Given the description of an element on the screen output the (x, y) to click on. 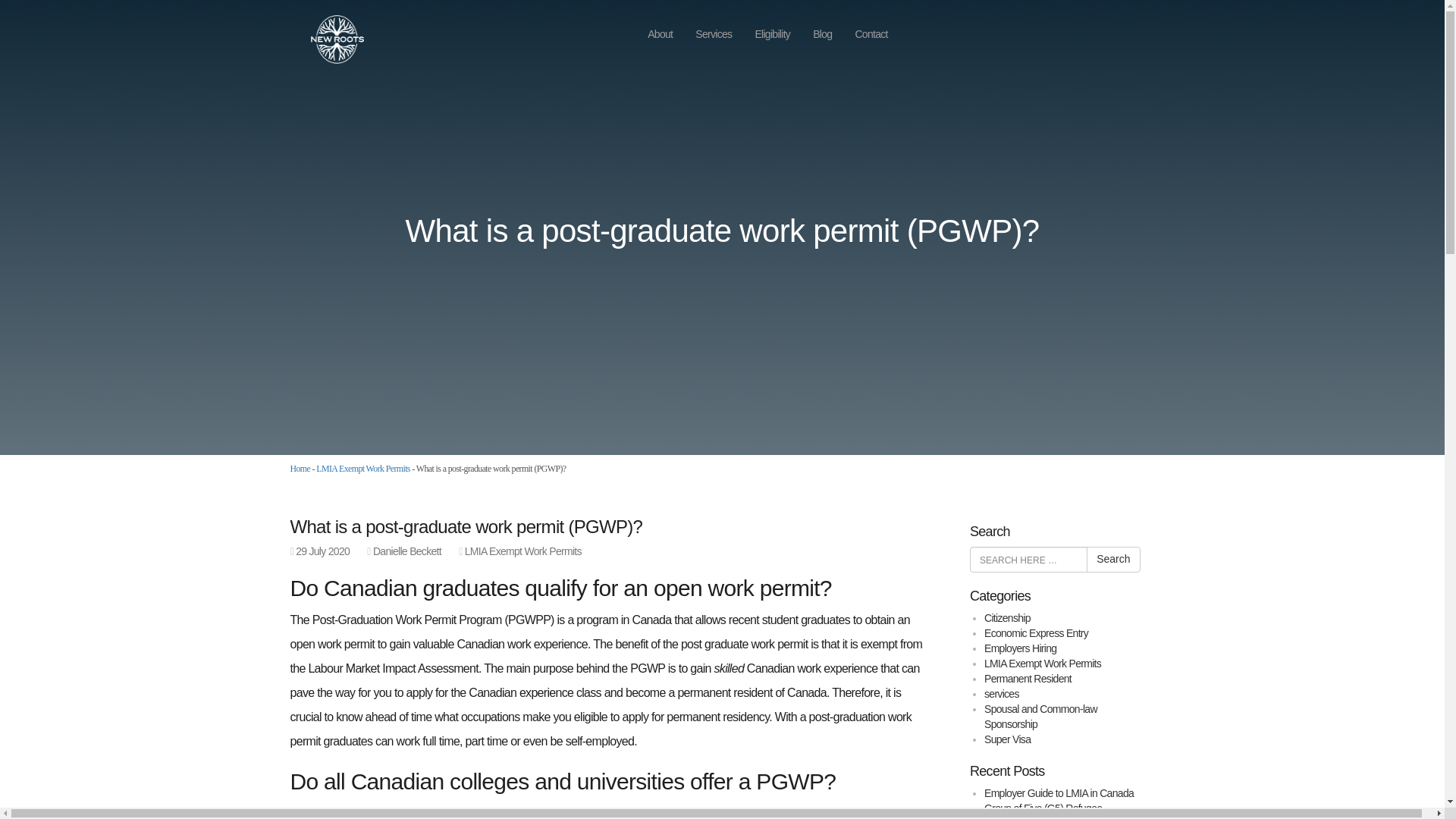
Super Visa (1007, 739)
29 July 2020 (322, 551)
Permanent Resident (1027, 678)
Economic Express Entry (1035, 633)
NewRoots (329, 37)
Search (1113, 559)
Blog (822, 34)
LMIA Exempt Work Permits (1042, 663)
Home (299, 468)
Danielle Beckett (406, 551)
Services (713, 34)
Citizenship (1007, 617)
Employer Guide to LMIA in Canada (1059, 793)
About (660, 34)
LMIA Exempt Work Permits (362, 468)
